Given the description of an element on the screen output the (x, y) to click on. 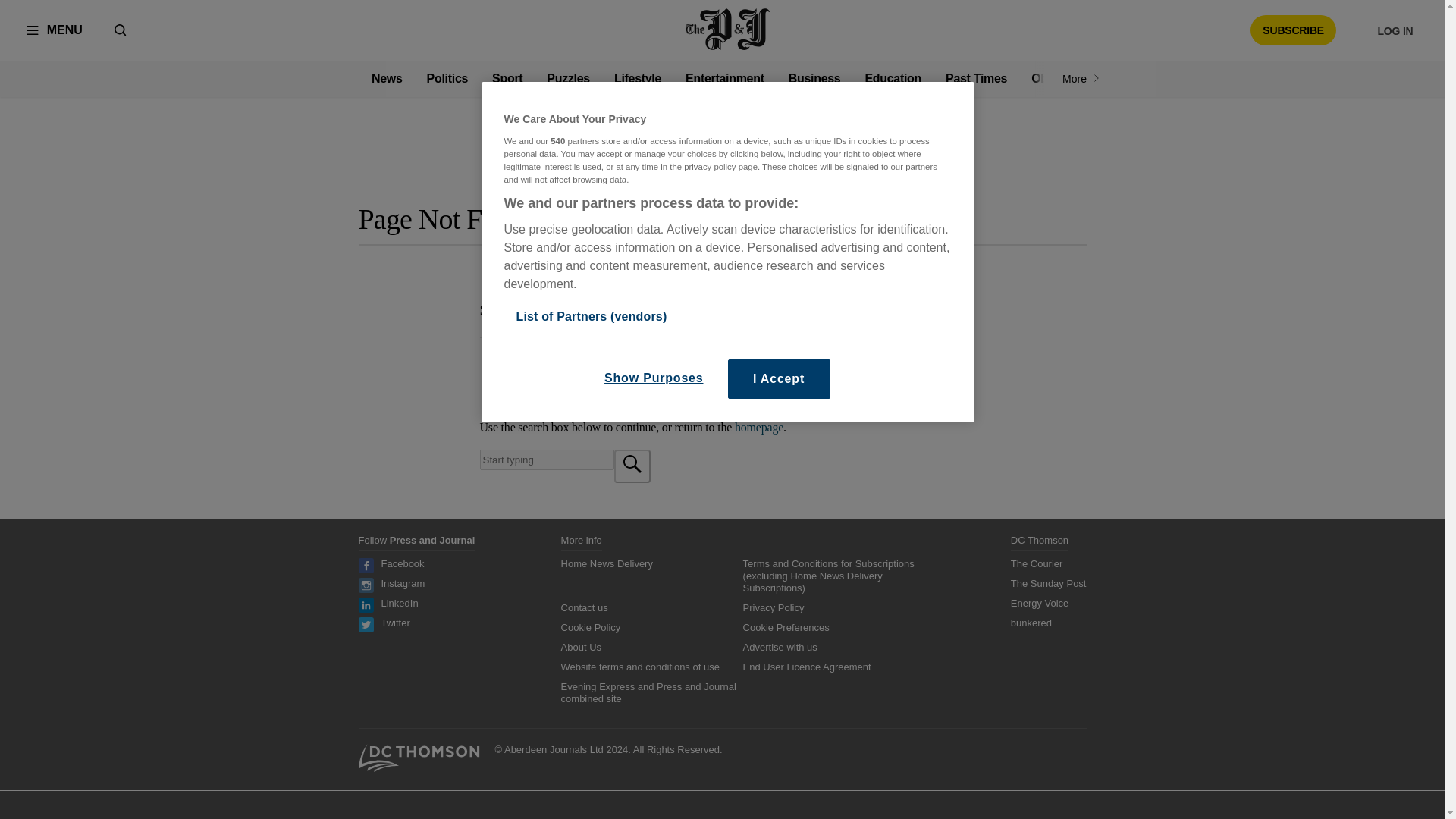
Twitter (394, 622)
Press and Journal (727, 30)
Facebook (401, 563)
LinkedIn (398, 603)
Search (545, 459)
Instagram (402, 583)
MENU (54, 30)
